Given the description of an element on the screen output the (x, y) to click on. 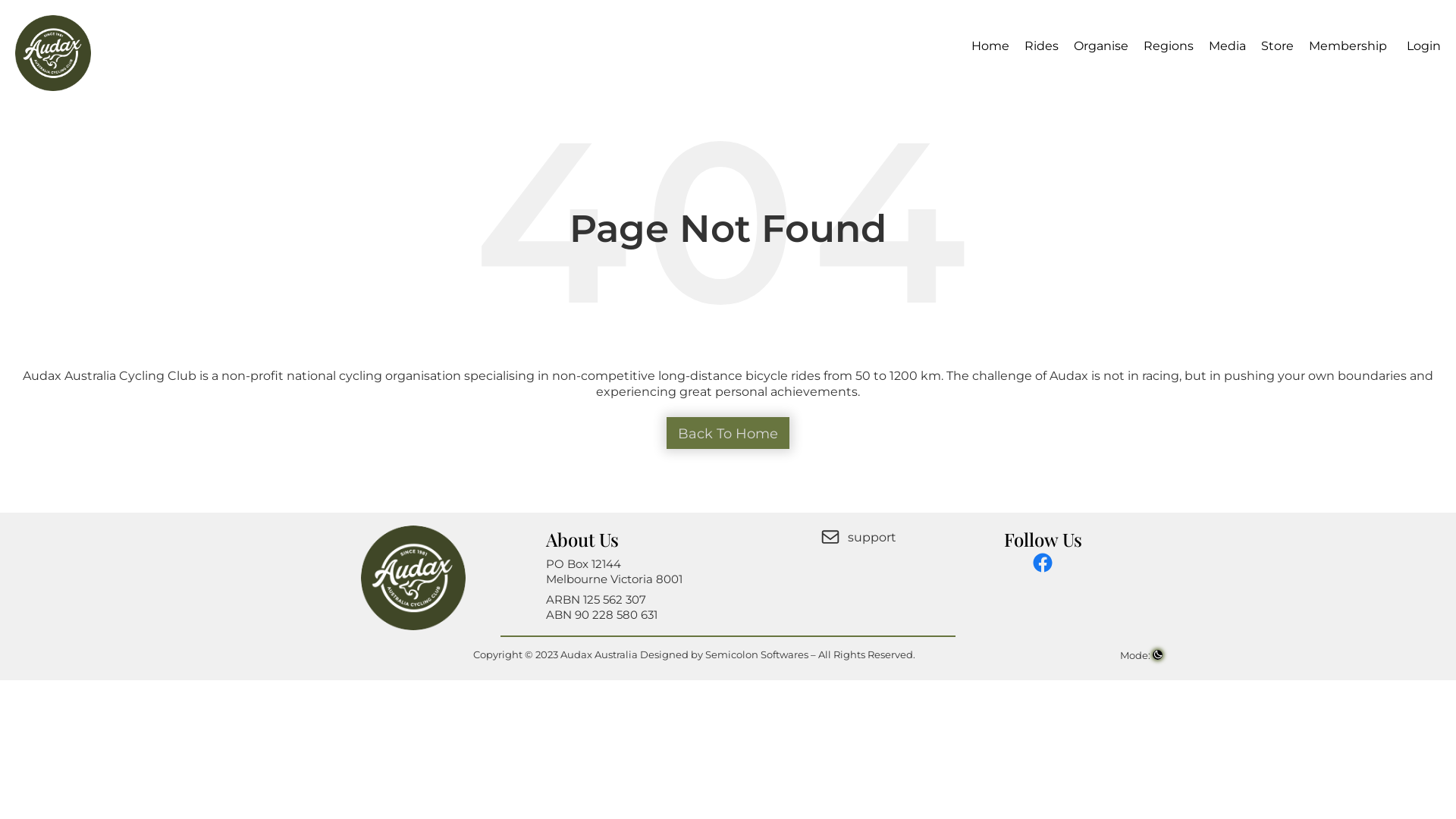
Organise Element type: text (1100, 45)
Back To Home Element type: text (727, 432)
Media Element type: text (1227, 45)
Membership Element type: text (1347, 45)
support Element type: text (860, 536)
Facebook Element type: text (1042, 562)
Home Element type: text (989, 45)
Rides Element type: text (1041, 45)
Login Element type: text (1421, 45)
Regions Element type: text (1168, 45)
Store Element type: text (1277, 45)
